Given the description of an element on the screen output the (x, y) to click on. 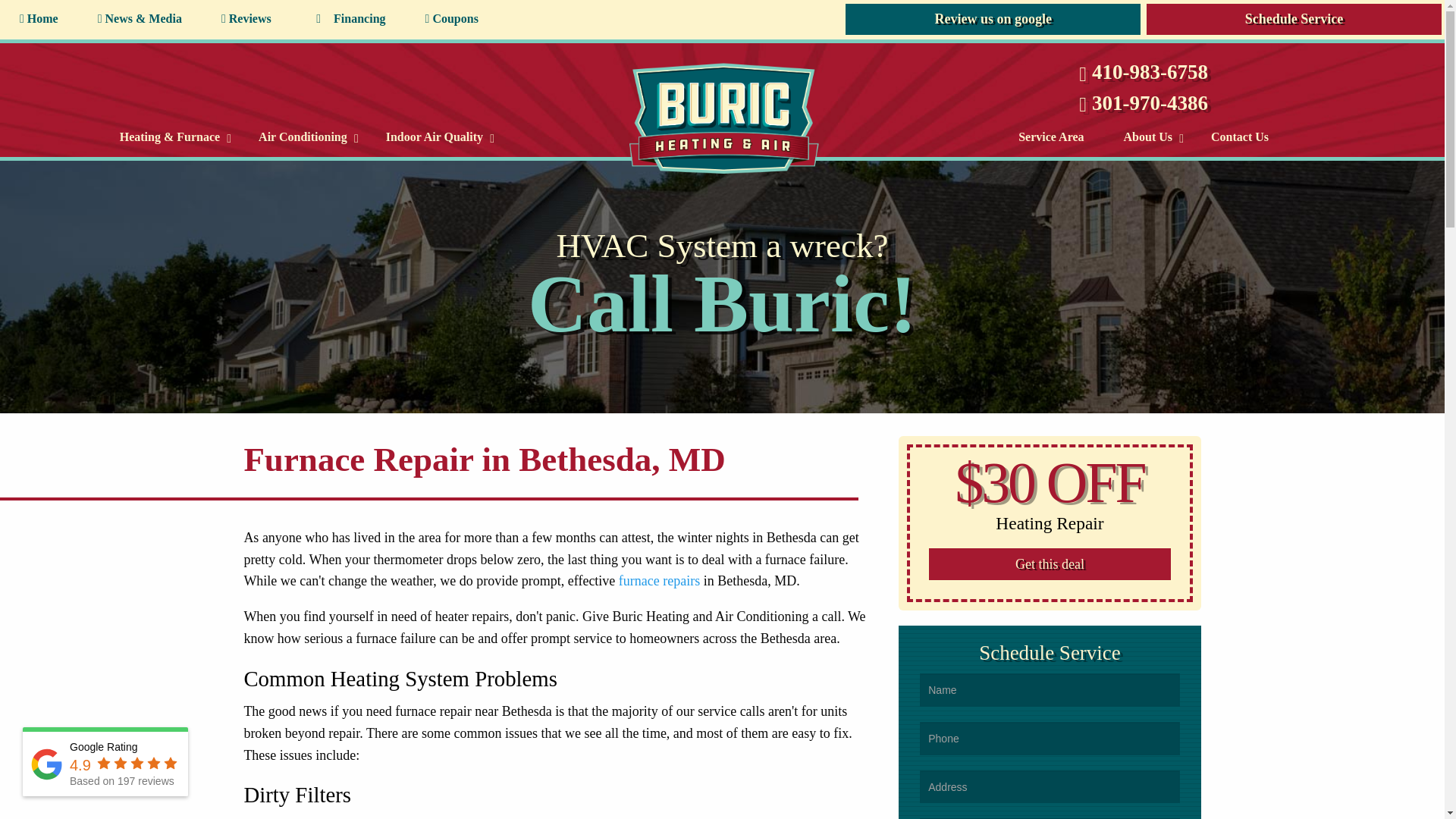
Review us on google (992, 19)
Home (39, 19)
Coupons (451, 19)
financing (318, 19)
Air Conditioning (302, 137)
Financing (348, 19)
Schedule Service (1293, 19)
Indoor Air Quality (434, 137)
Reviews (246, 19)
